Given the description of an element on the screen output the (x, y) to click on. 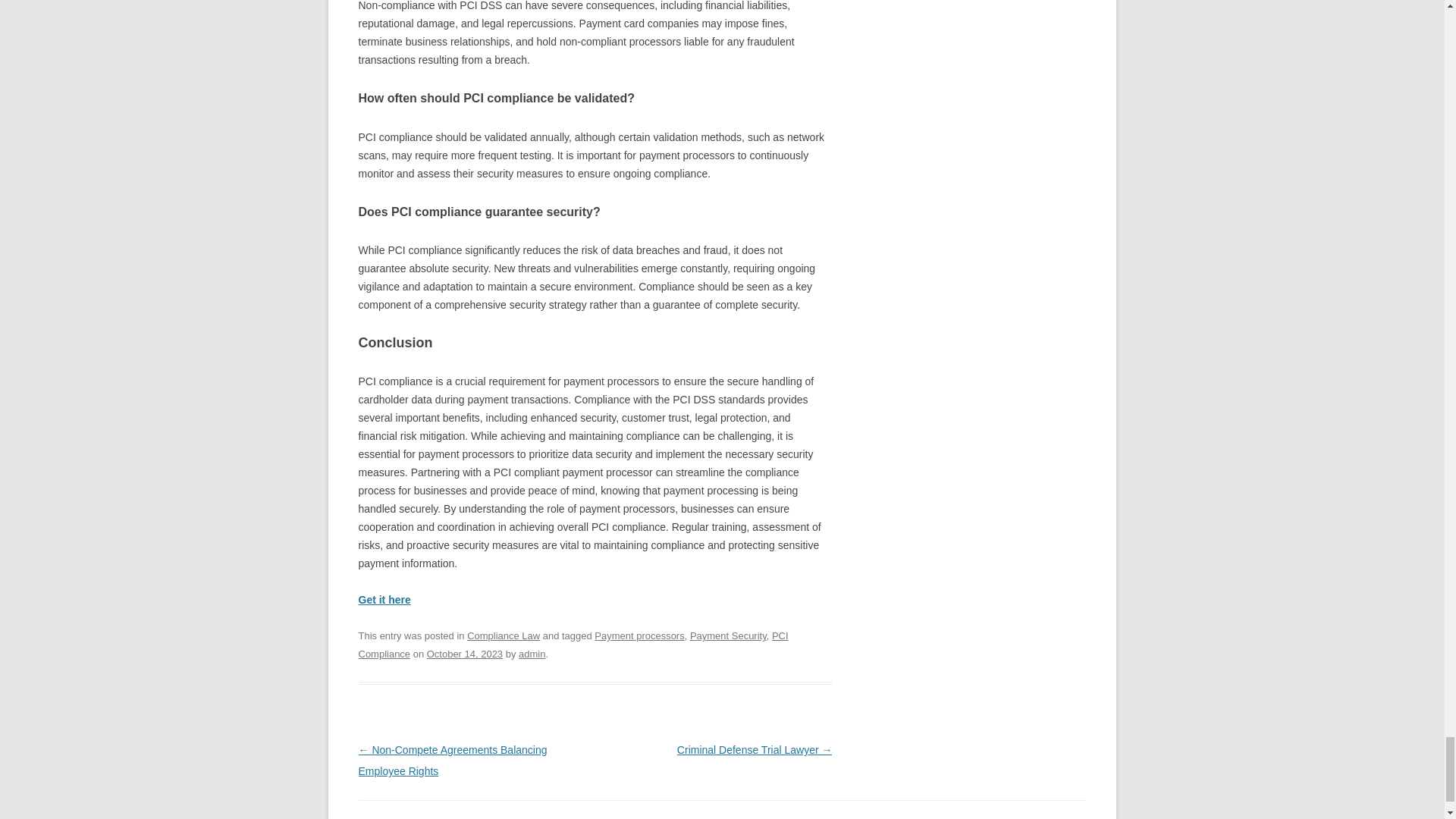
Payment processors (639, 635)
October 14, 2023 (464, 654)
3:23 pm (464, 654)
Payment Security (728, 635)
See the Get it here in detail. (384, 599)
admin (531, 654)
Get it here (384, 599)
PCI Compliance (572, 644)
View all posts by admin (531, 654)
Compliance Law (503, 635)
